Given the description of an element on the screen output the (x, y) to click on. 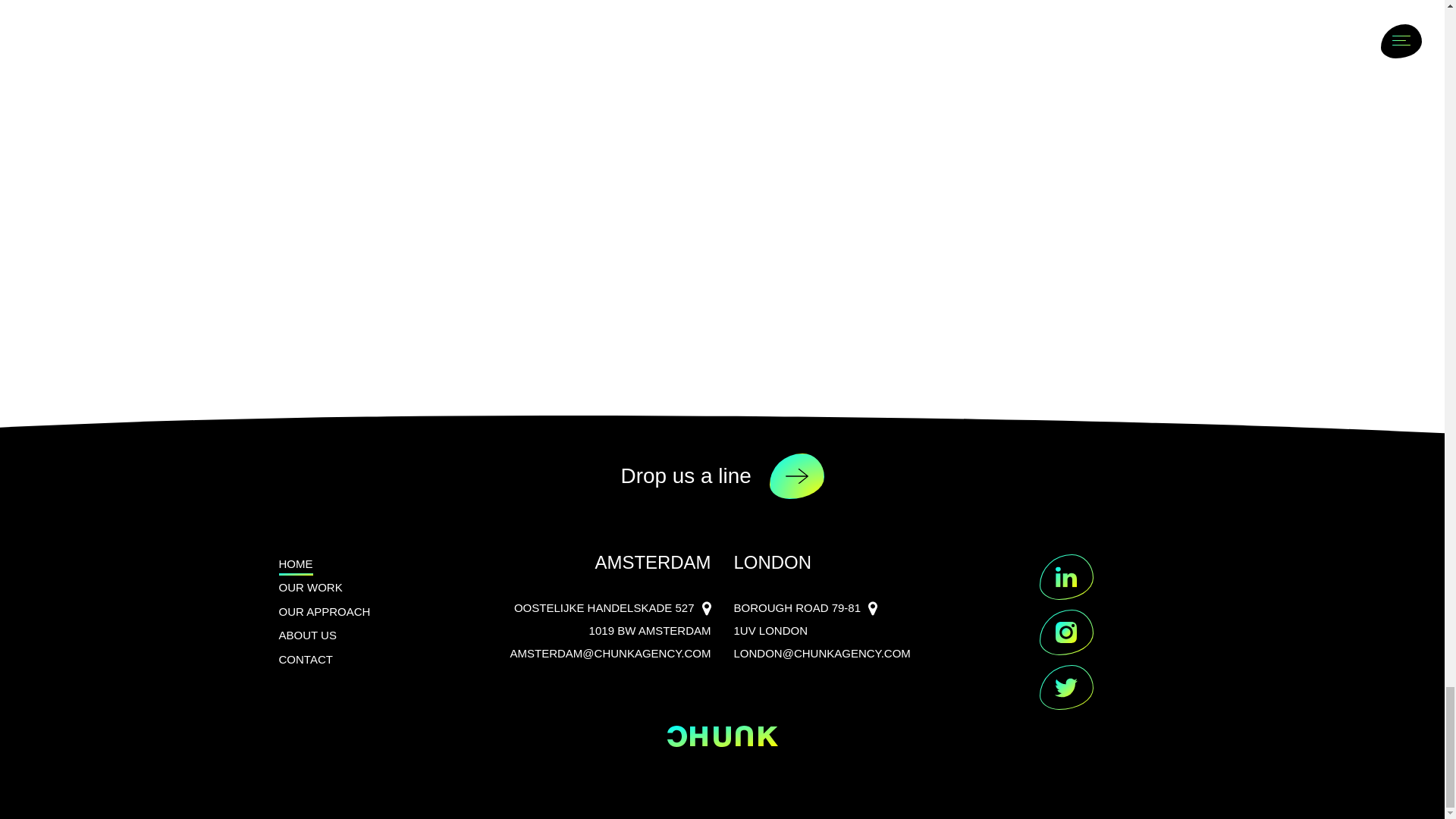
Chunk logo (721, 735)
OUR WORK (310, 587)
OUR APPROACH (325, 611)
Chunk logo (721, 735)
OOSTELIJKE HANDELSKADE 527 (612, 608)
ABOUT US (307, 635)
BOROUGH ROAD 79-81 (805, 608)
Drop us a line (722, 475)
CONTACT (306, 659)
HOME (296, 564)
